Given the description of an element on the screen output the (x, y) to click on. 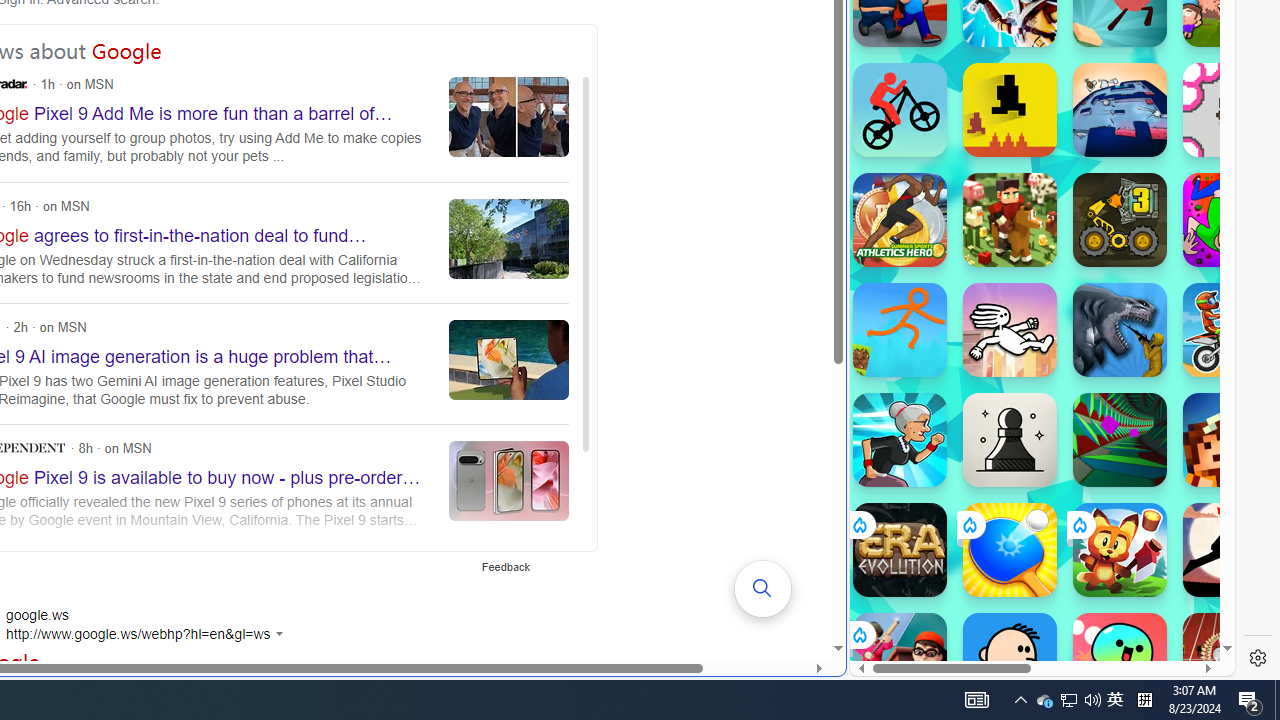
Level Devil Level Devil (1009, 109)
Moto X3M (1229, 329)
Tunnel Rush Tunnel Rush (1119, 439)
Moto X3M Moto X3M (1229, 329)
Big Tower Tiny Square Big Tower Tiny Square (1119, 109)
BoxRob 3 (1119, 219)
Athletics Hero (899, 219)
Sharkosaurus Rampage (1119, 329)
Hills of Steel (943, 200)
Sharkosaurus Rampage Sharkosaurus Rampage (1119, 329)
SUBWAY SURFERS - Play Online for Free! | Poki (1034, 624)
Search results from poki.com (1005, 59)
100 Metres Race (1229, 659)
Combat Reloaded (1090, 290)
